Given the description of an element on the screen output the (x, y) to click on. 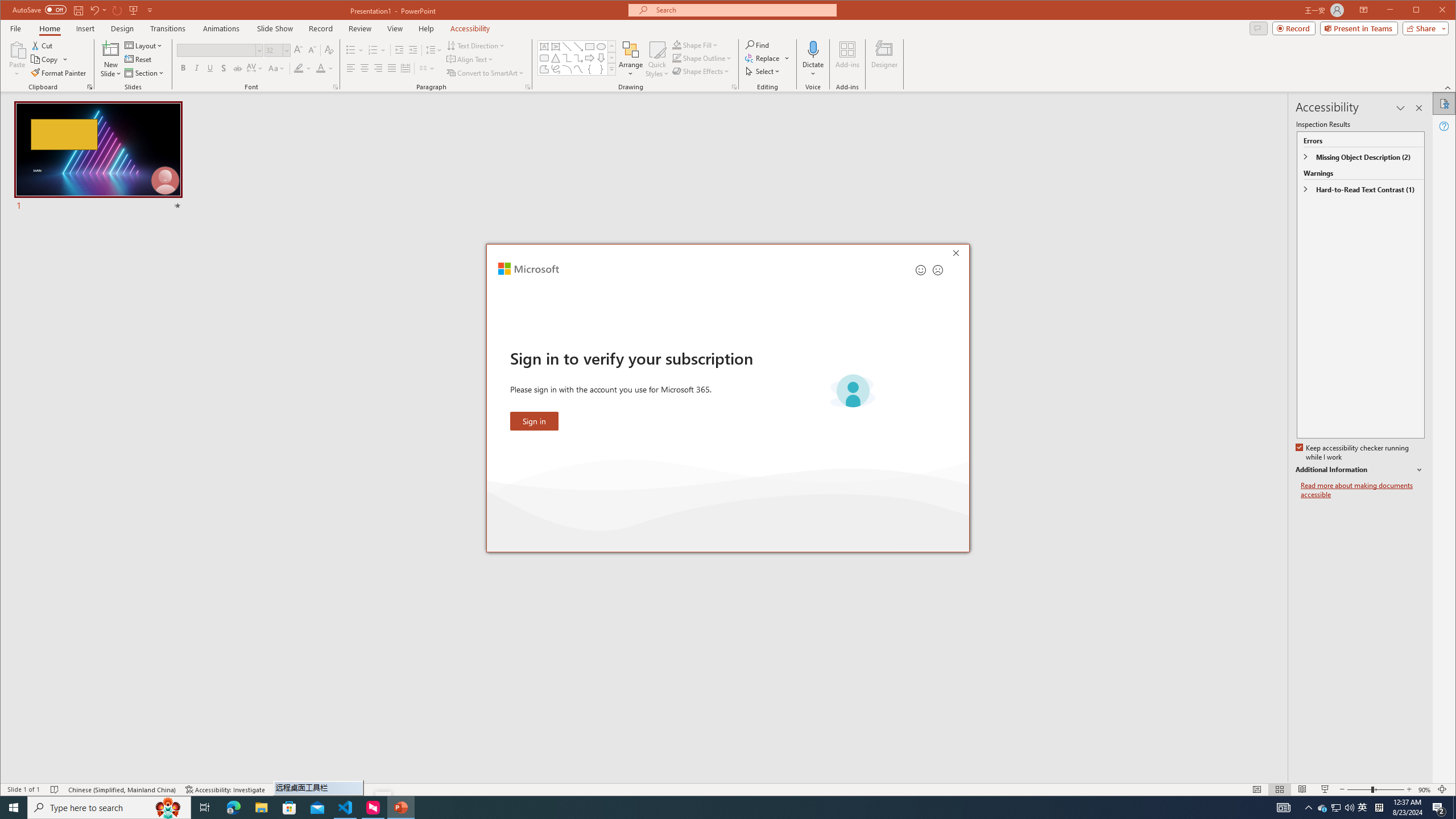
Zoom 90% (1424, 789)
